Given the description of an element on the screen output the (x, y) to click on. 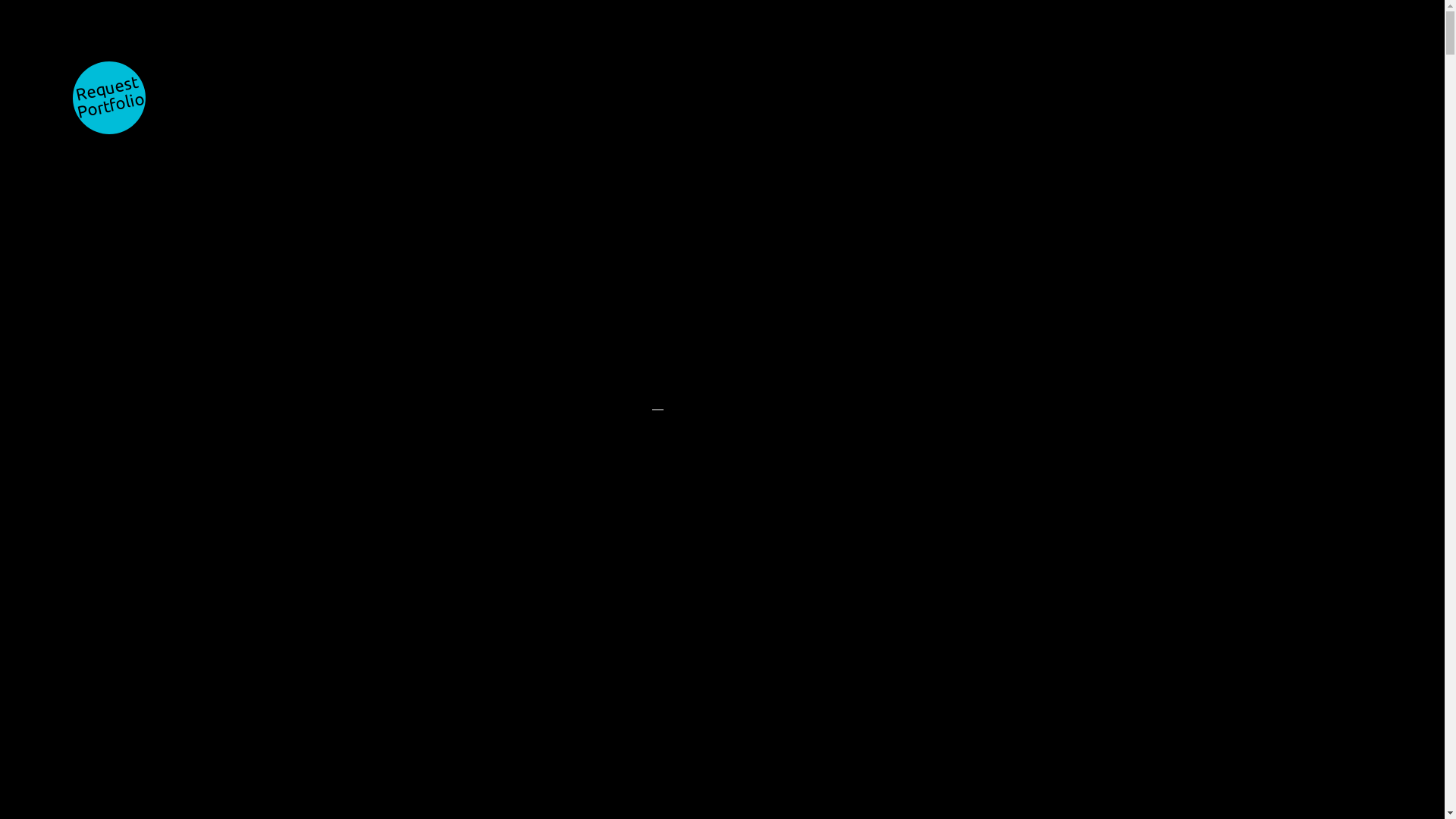
Request
Portfolio Element type: text (108, 97)
